Given the description of an element on the screen output the (x, y) to click on. 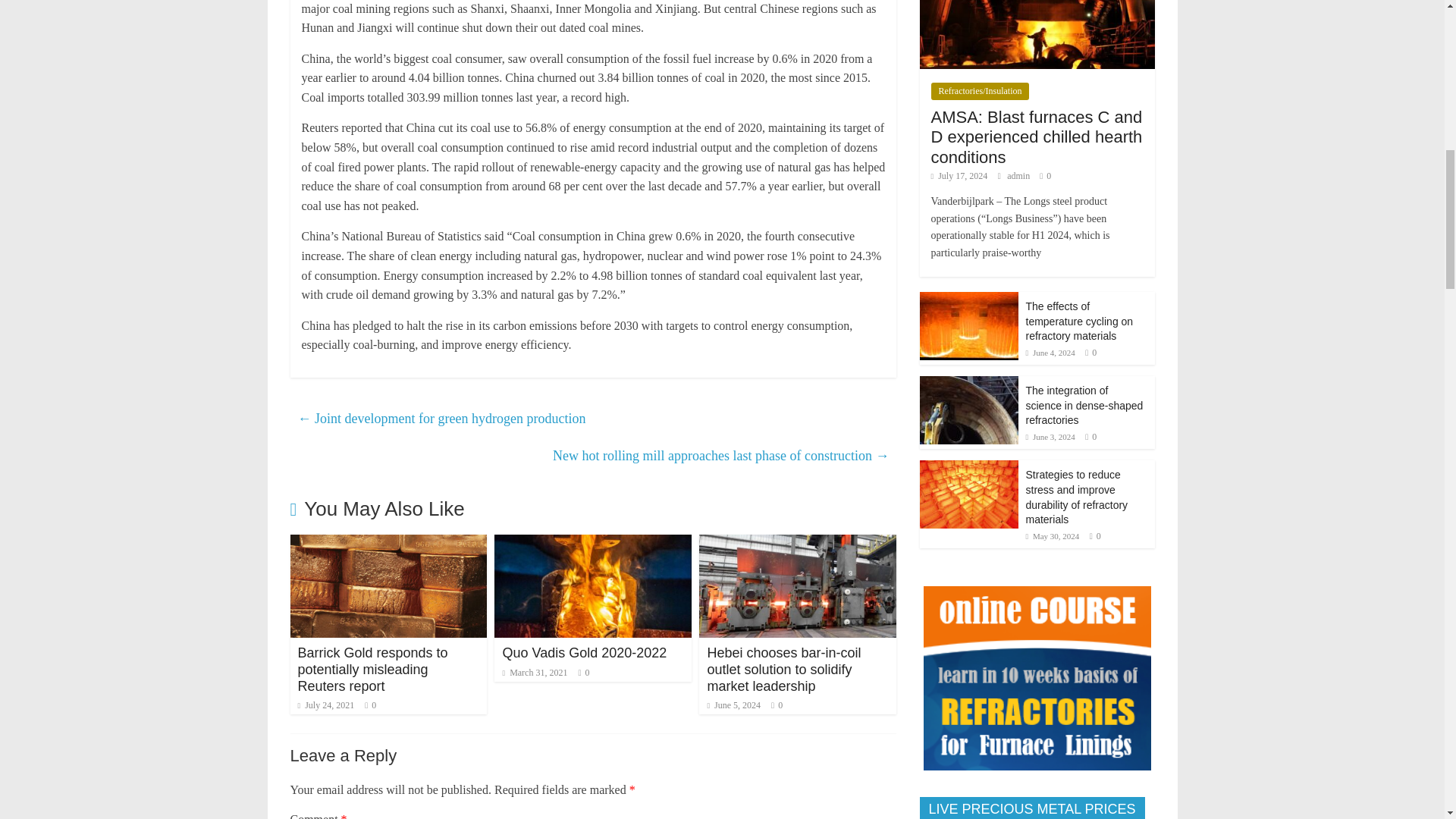
08:18 (325, 705)
